Given the description of an element on the screen output the (x, y) to click on. 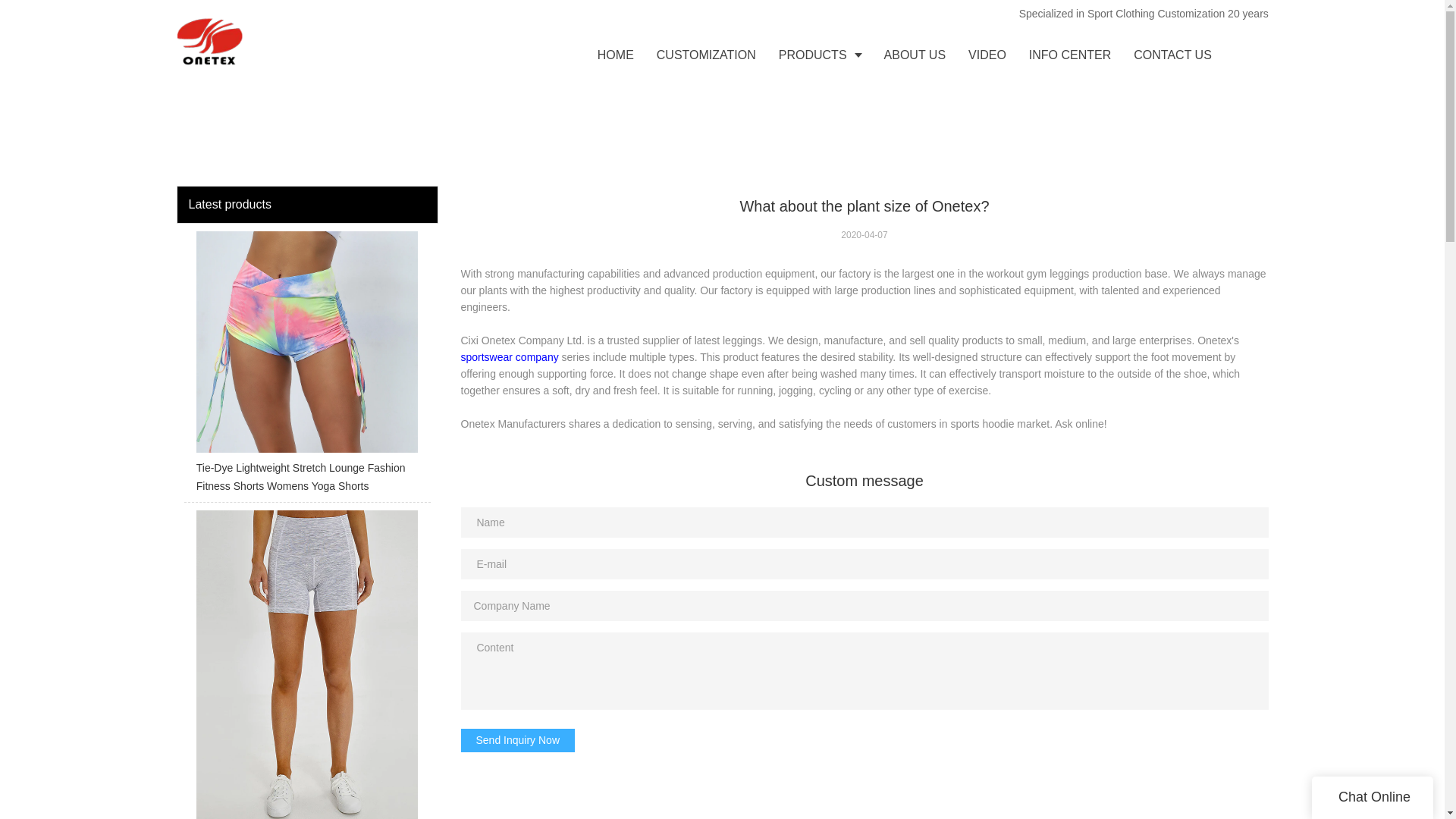
ABOUT US (915, 55)
HOME (615, 55)
PRODUCTS (819, 55)
VIDEO (986, 55)
sportswear company (510, 357)
Send Inquiry Now (518, 740)
CUSTOMIZATION (706, 55)
INFO CENTER (1069, 55)
CONTACT US (1172, 55)
